Given the description of an element on the screen output the (x, y) to click on. 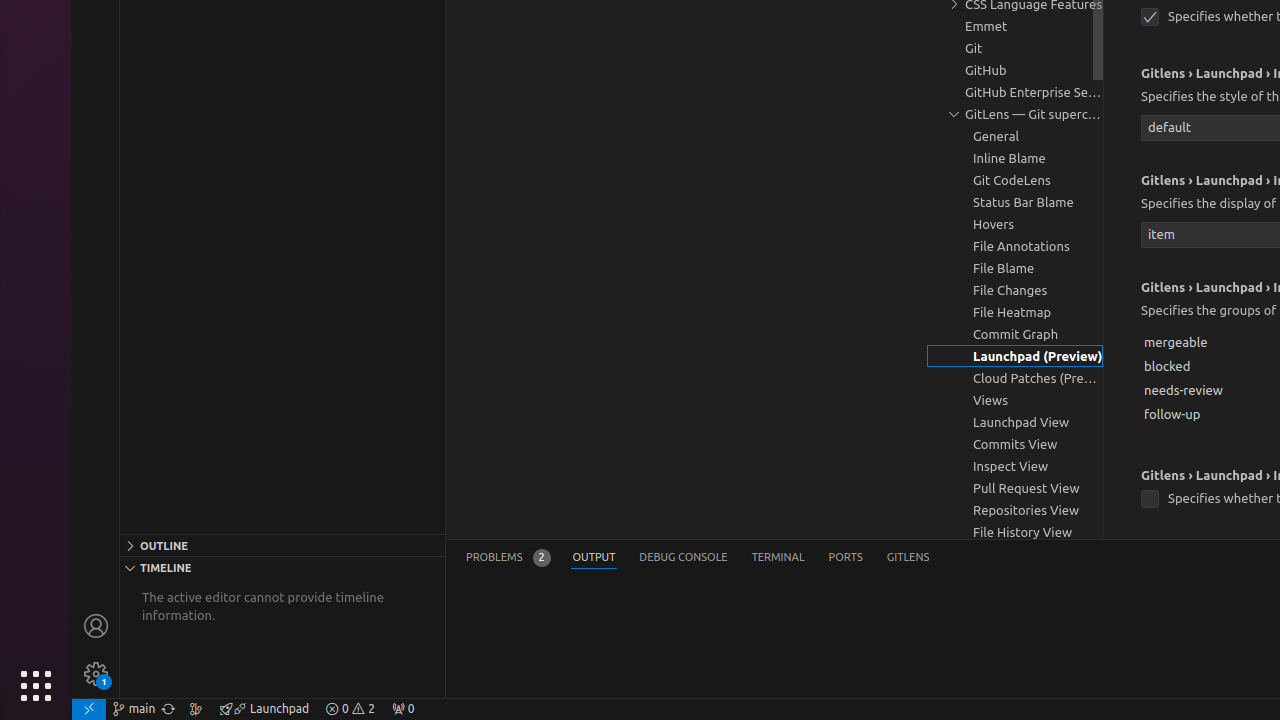
Repositories View, group Element type: tree-item (1015, 510)
Launchpad View, group Element type: tree-item (1015, 422)
Views, group Element type: tree-item (1015, 400)
File Heatmap, group Element type: tree-item (1015, 312)
Accounts Element type: push-button (96, 626)
